Given the description of an element on the screen output the (x, y) to click on. 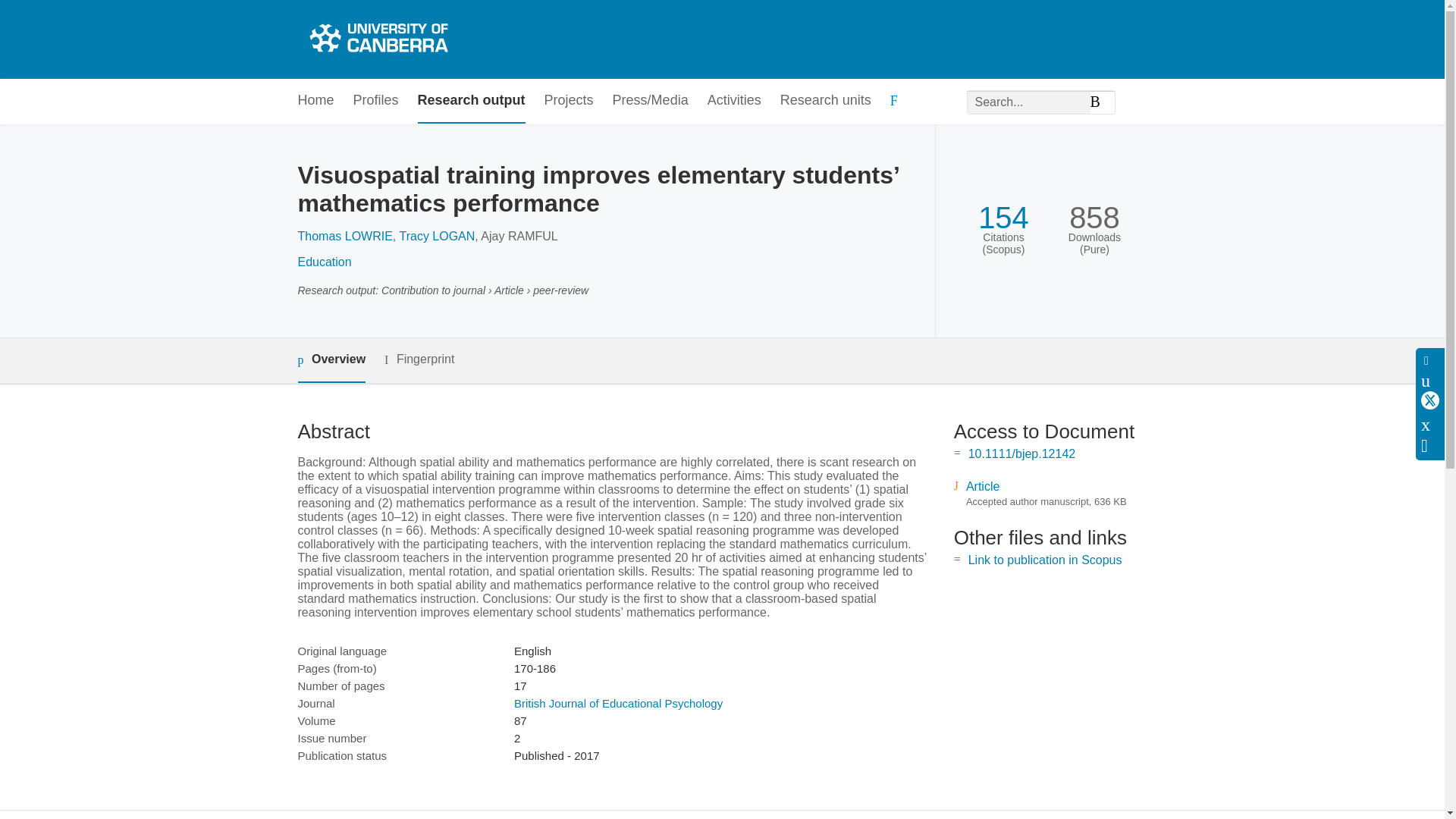
154 (1003, 217)
Research units (825, 100)
University of Canberra Research Portal Home (377, 39)
British Journal of Educational Psychology (617, 703)
Activities (734, 100)
Education (323, 261)
Overview (331, 360)
Link to publication in Scopus (1045, 559)
Tracy LOGAN (436, 236)
